Given the description of an element on the screen output the (x, y) to click on. 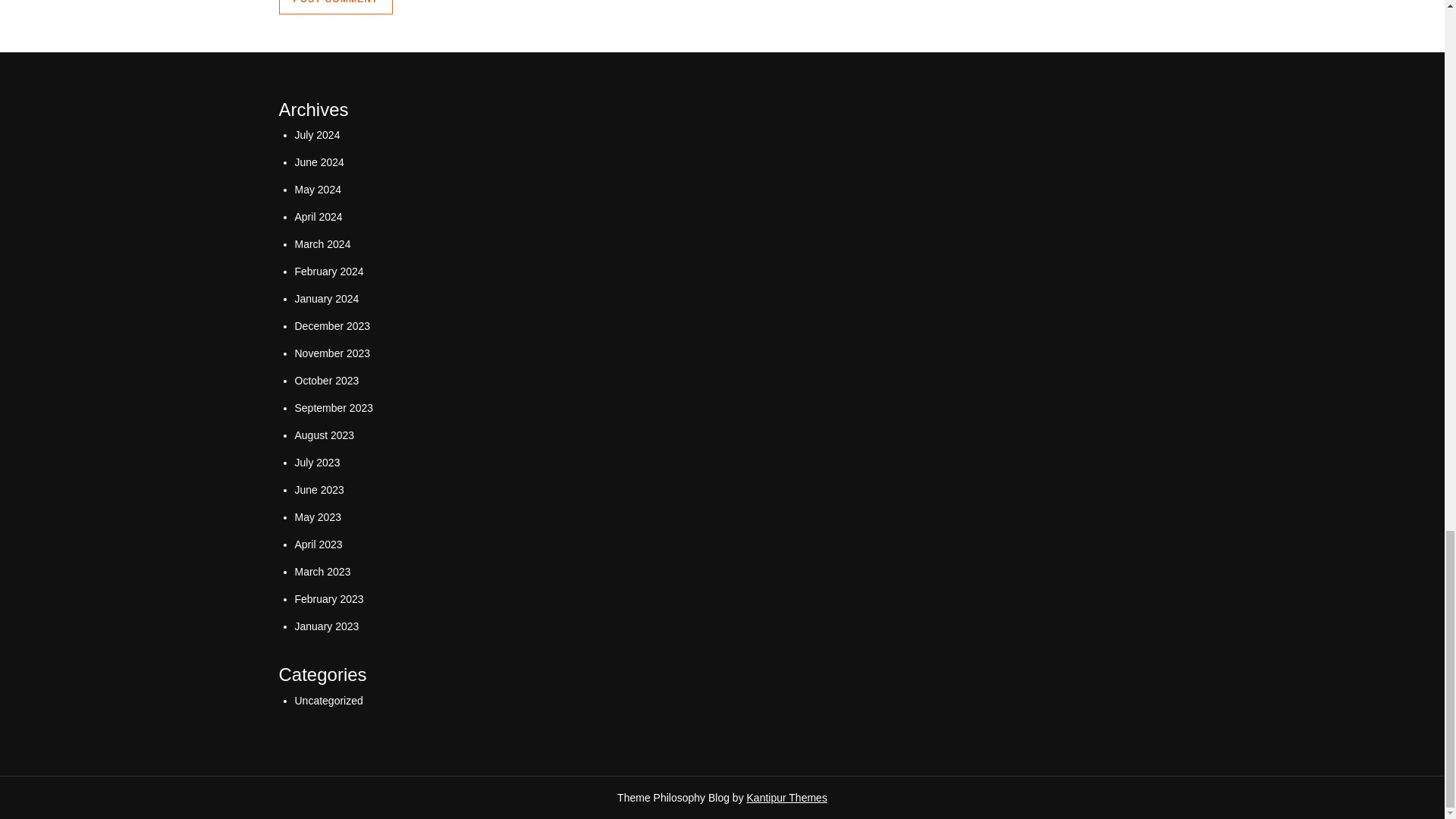
June 2023 (318, 490)
Post Comment (336, 7)
April 2023 (318, 544)
September 2023 (333, 408)
December 2023 (331, 326)
July 2023 (316, 462)
April 2024 (318, 216)
March 2023 (322, 571)
February 2024 (328, 271)
January 2024 (326, 298)
August 2023 (323, 435)
March 2024 (322, 244)
Post Comment (336, 7)
October 2023 (326, 380)
May 2024 (317, 189)
